Given the description of an element on the screen output the (x, y) to click on. 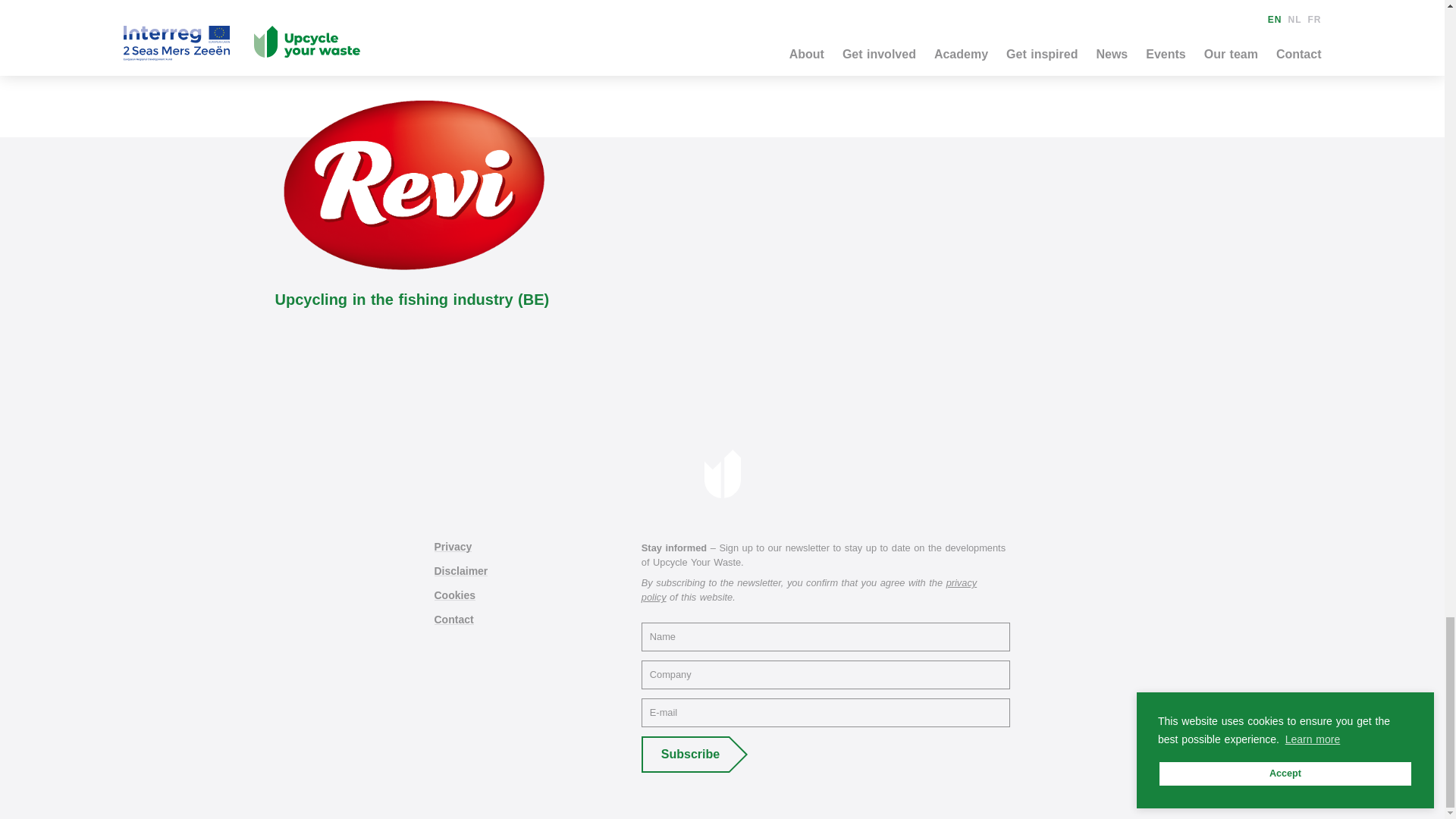
Cookies (453, 594)
Disclaimer (460, 571)
Privacy (452, 546)
Subscribe (685, 754)
privacy policy (809, 589)
Contact (453, 619)
